Given the description of an element on the screen output the (x, y) to click on. 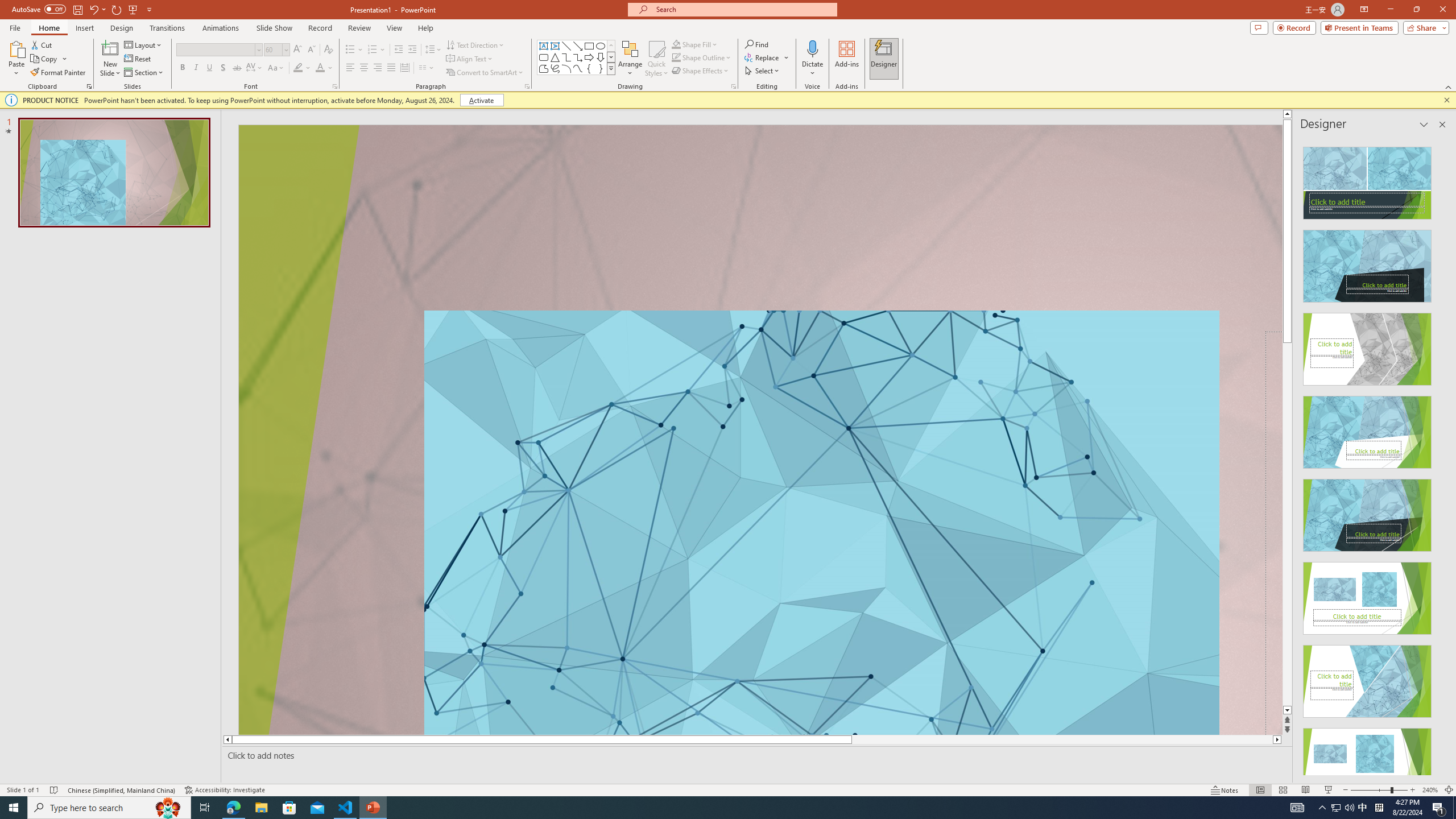
Design Idea (1366, 760)
Close this message (1446, 99)
